Given the description of an element on the screen output the (x, y) to click on. 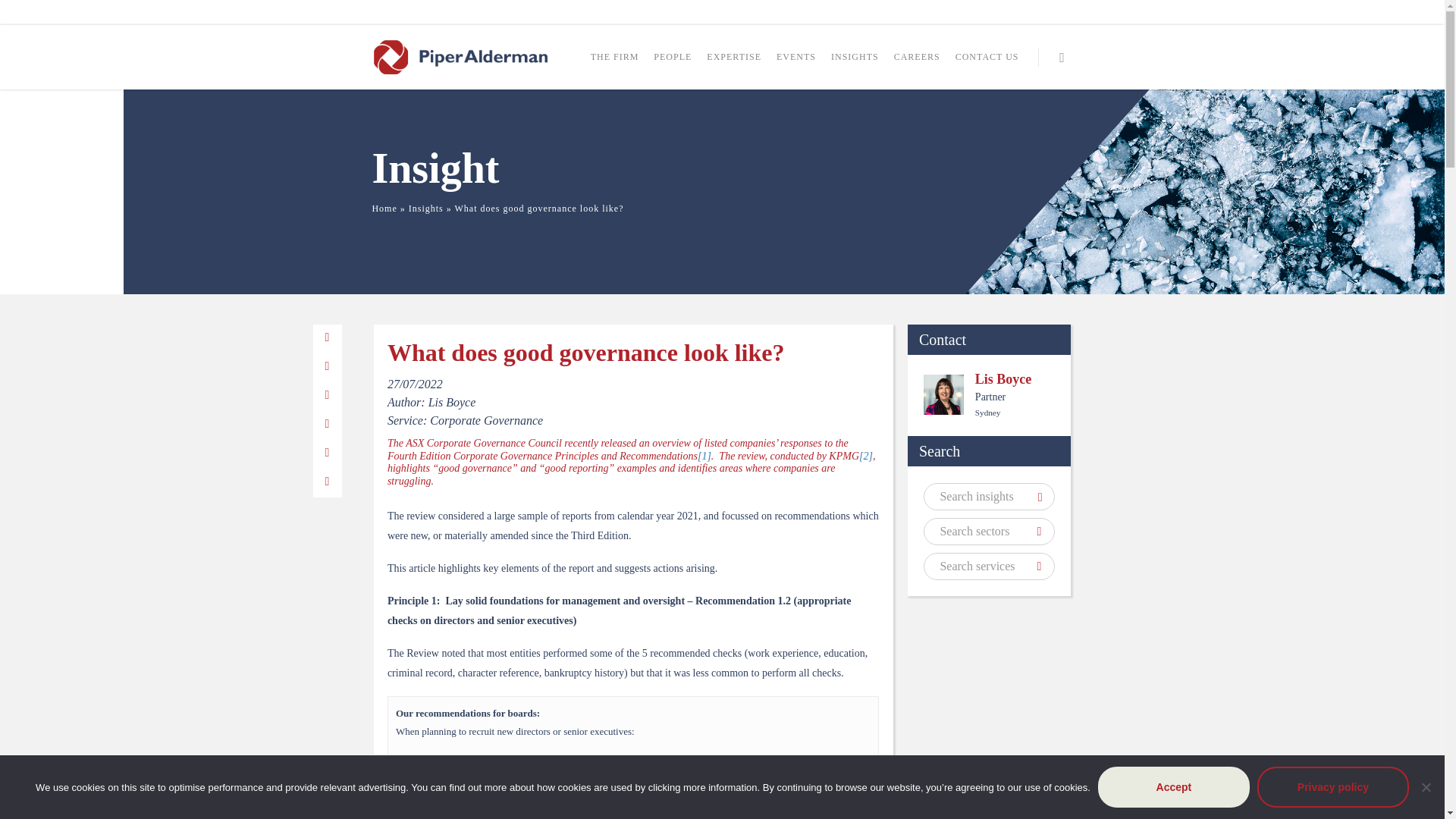
EXPERTISE (733, 64)
THE FIRM (615, 64)
